Given the description of an element on the screen output the (x, y) to click on. 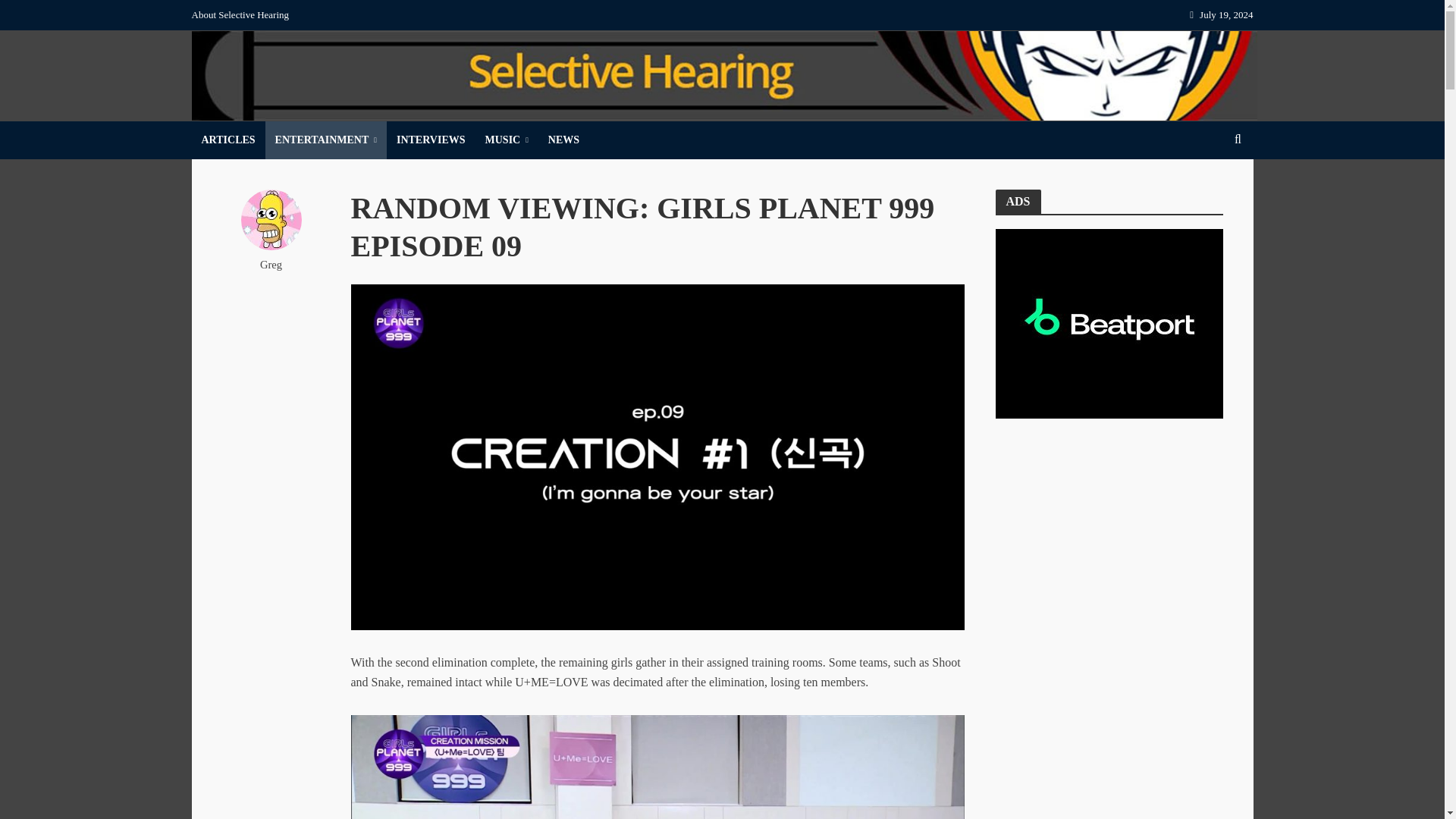
MUSIC (507, 139)
About Selective Hearing (243, 15)
ENTERTAINMENT (325, 139)
INTERVIEWS (431, 139)
NEWS (563, 139)
ARTICLES (227, 139)
